Given the description of an element on the screen output the (x, y) to click on. 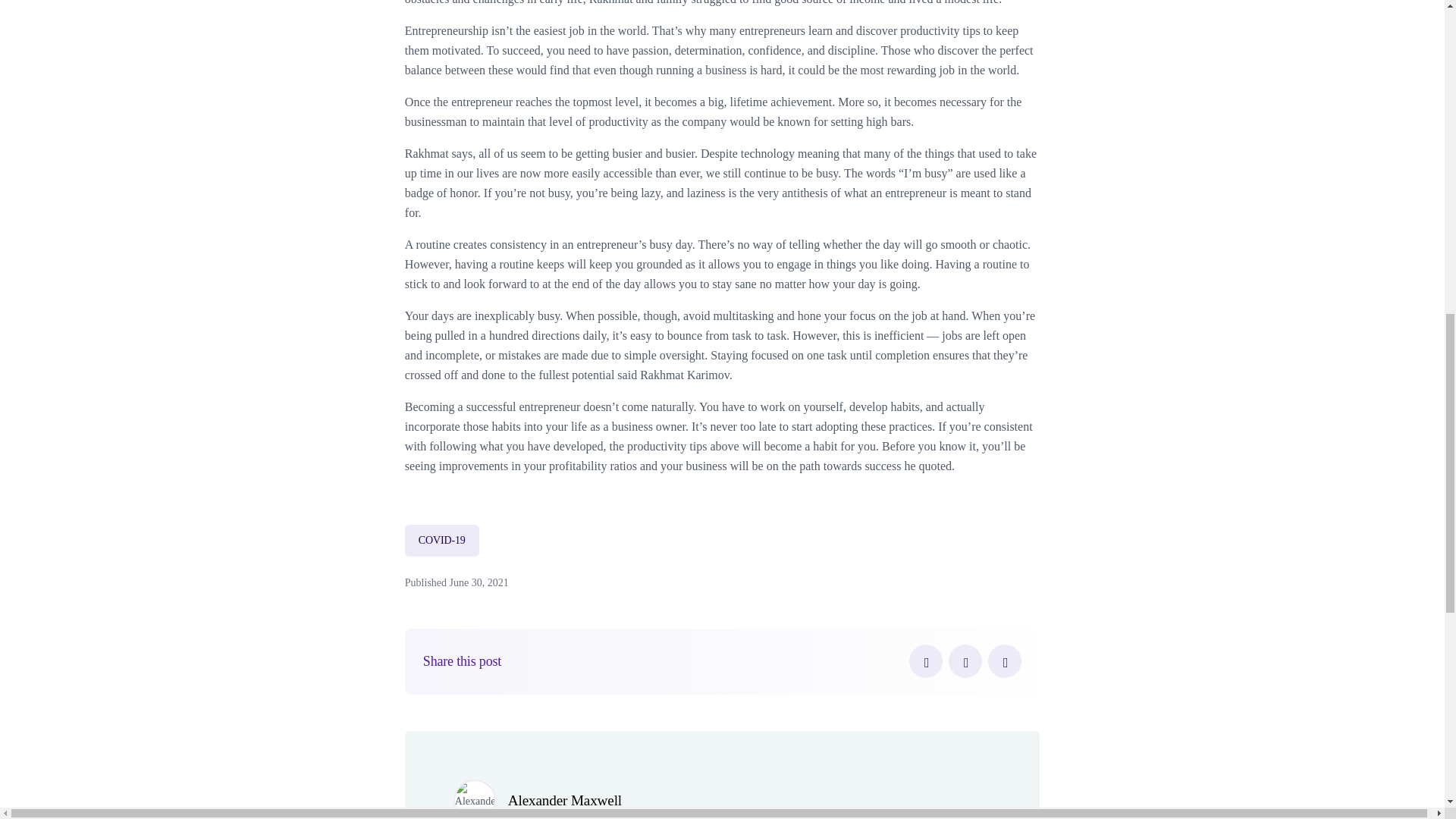
Twitter (965, 661)
Facebook (925, 661)
LinkedIn (1005, 661)
Alexander Maxwell (564, 800)
